Given the description of an element on the screen output the (x, y) to click on. 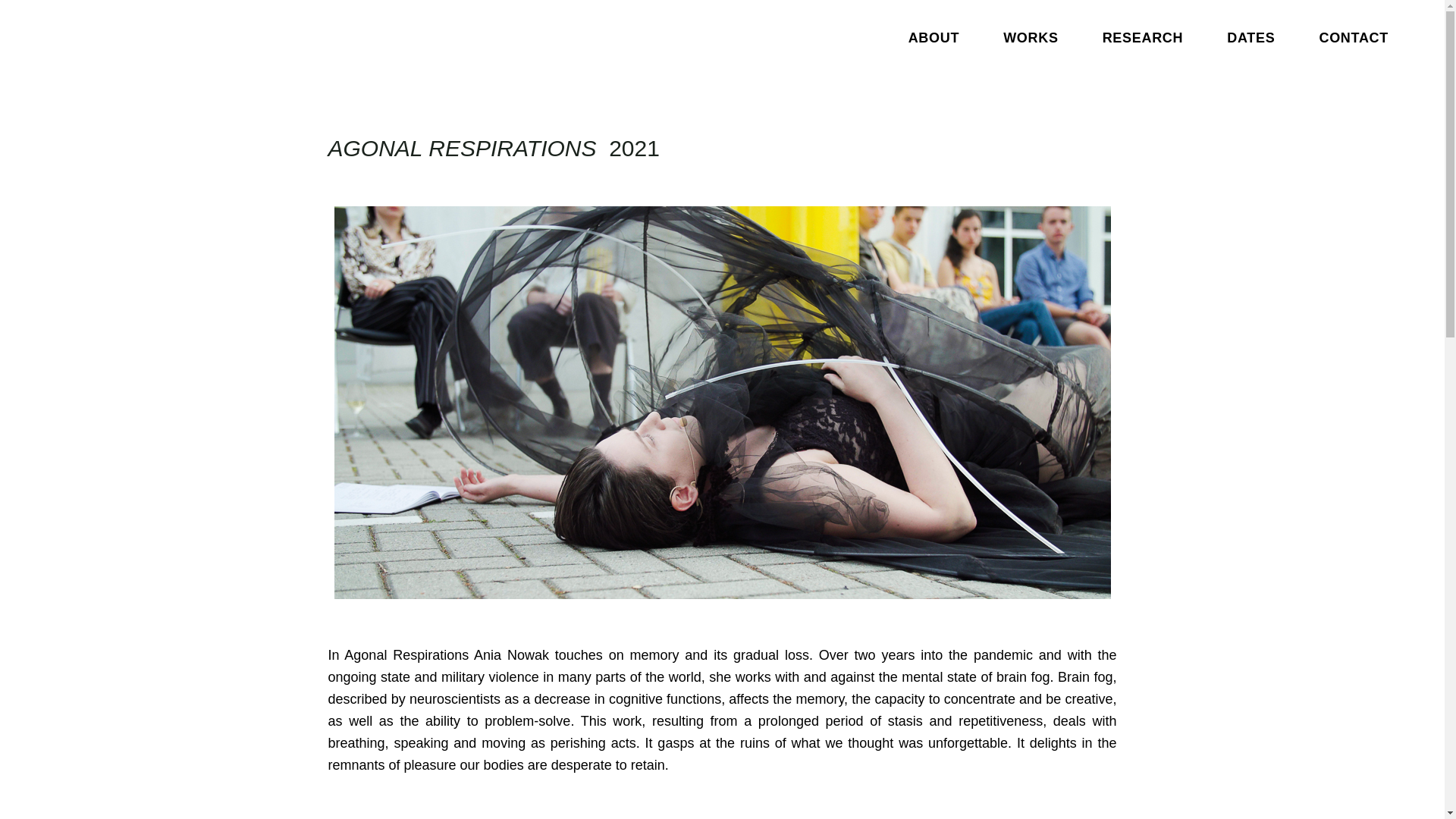
WORKS (1030, 38)
ABOUT (933, 38)
DATES (1251, 38)
CONTACT (1353, 38)
RESEARCH (1142, 38)
